Given the description of an element on the screen output the (x, y) to click on. 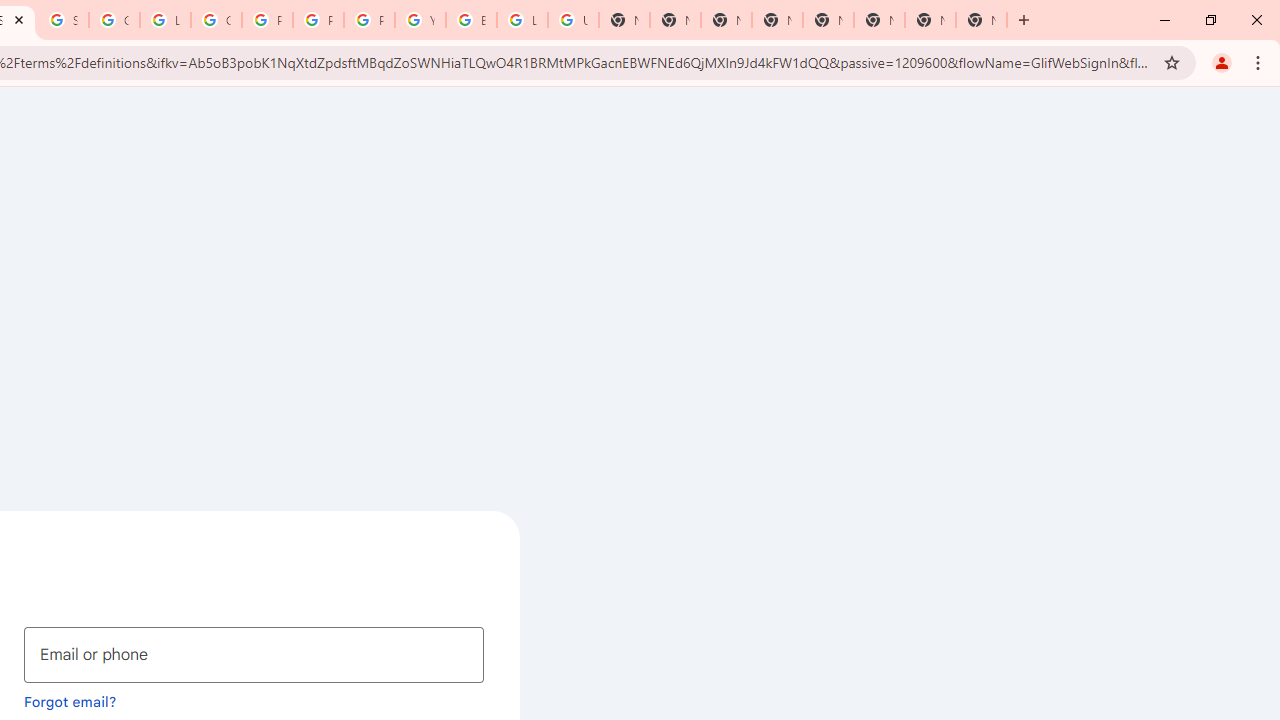
New Tab (726, 20)
Privacy Help Center - Policies Help (318, 20)
YouTube (420, 20)
Sign in - Google Accounts (63, 20)
Privacy Help Center - Policies Help (267, 20)
Email or phone (253, 654)
